Given the description of an element on the screen output the (x, y) to click on. 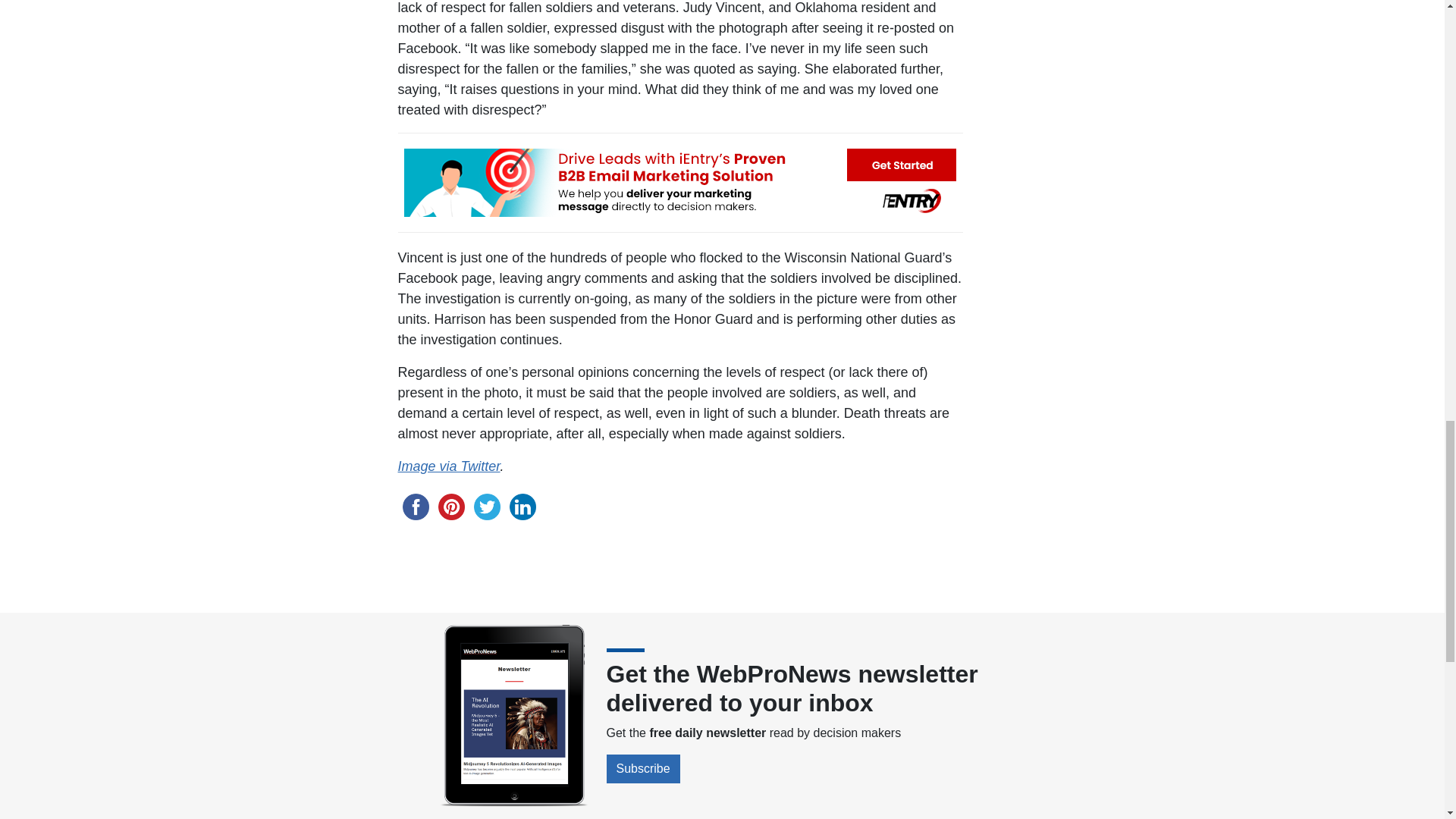
pinterest (450, 506)
facebook (414, 506)
twitter (485, 506)
